Given the description of an element on the screen output the (x, y) to click on. 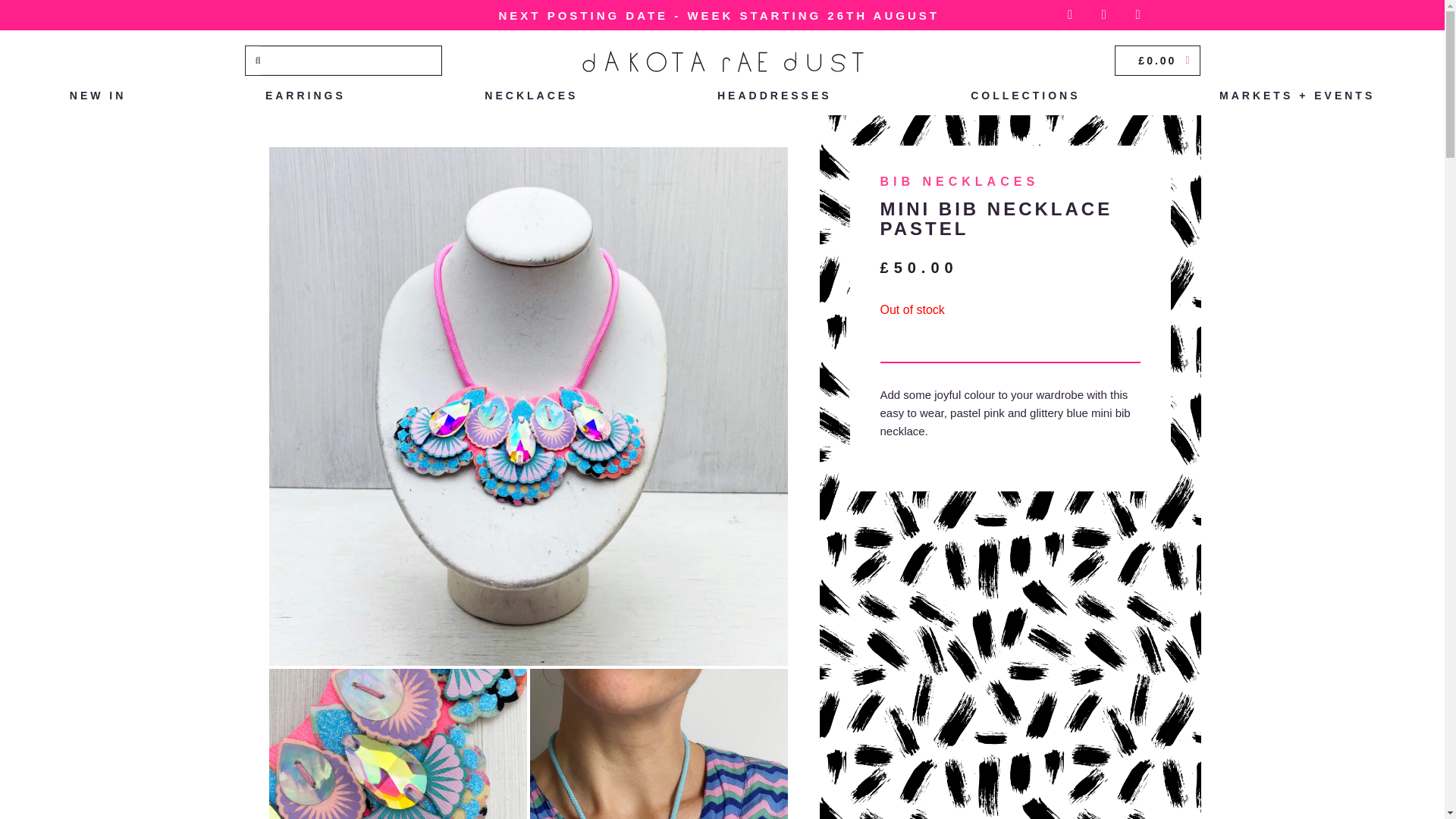
COLLECTIONS (1025, 95)
Facebook (1103, 14)
EARRINGS (304, 95)
Pinterest (1138, 14)
NECKLACES (530, 95)
dakota-rae-dust-mini-bib-necklace-blue-lilac-07 (658, 744)
Instagram (1069, 14)
NEW IN (97, 95)
bib-necklace-sept23-031 (396, 744)
